Given the description of an element on the screen output the (x, y) to click on. 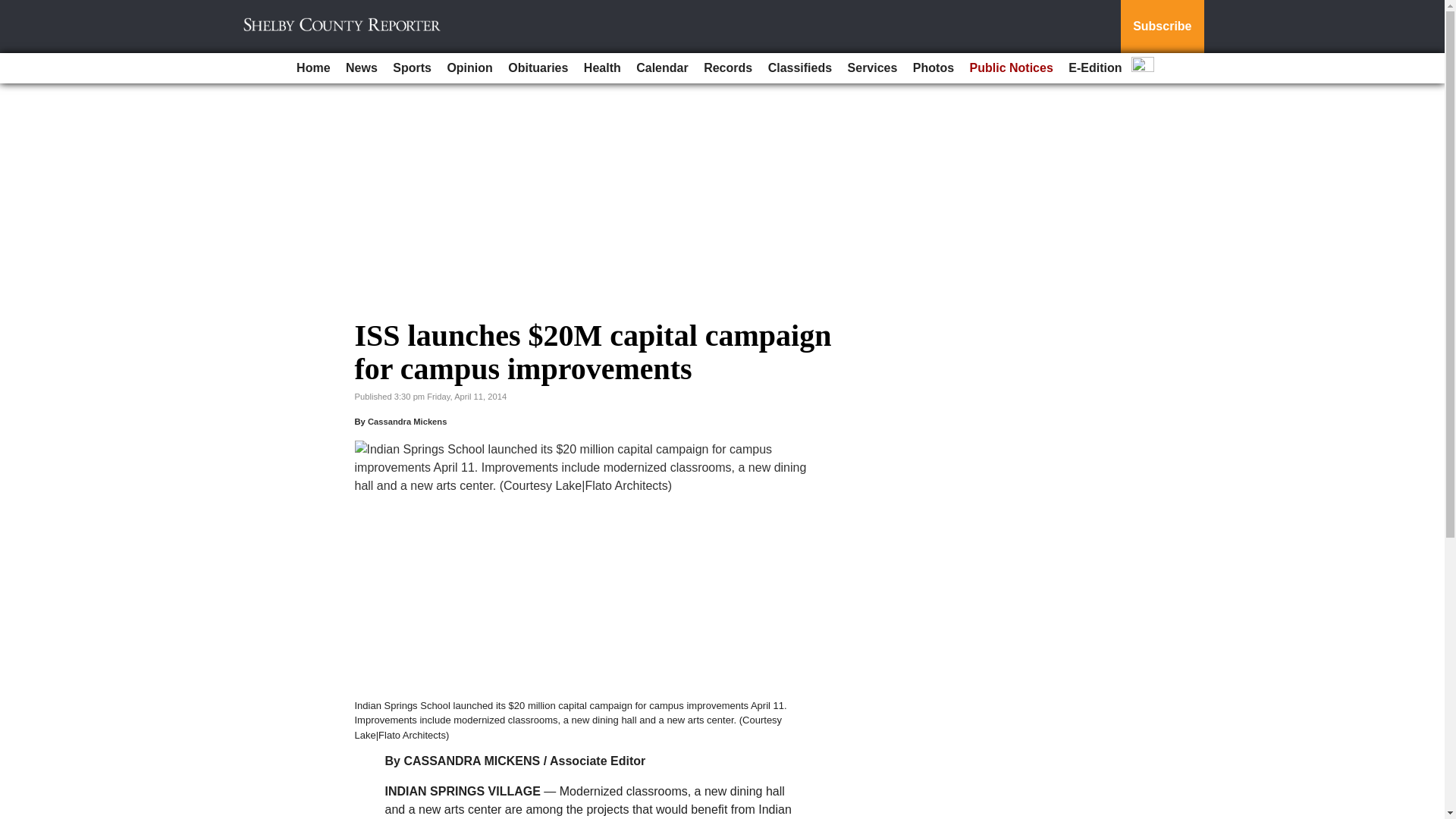
Home (312, 68)
Calendar (662, 68)
Services (872, 68)
Classifieds (799, 68)
Records (727, 68)
Health (602, 68)
Subscribe (1162, 26)
Sports (412, 68)
Opinion (469, 68)
News (361, 68)
